Given the description of an element on the screen output the (x, y) to click on. 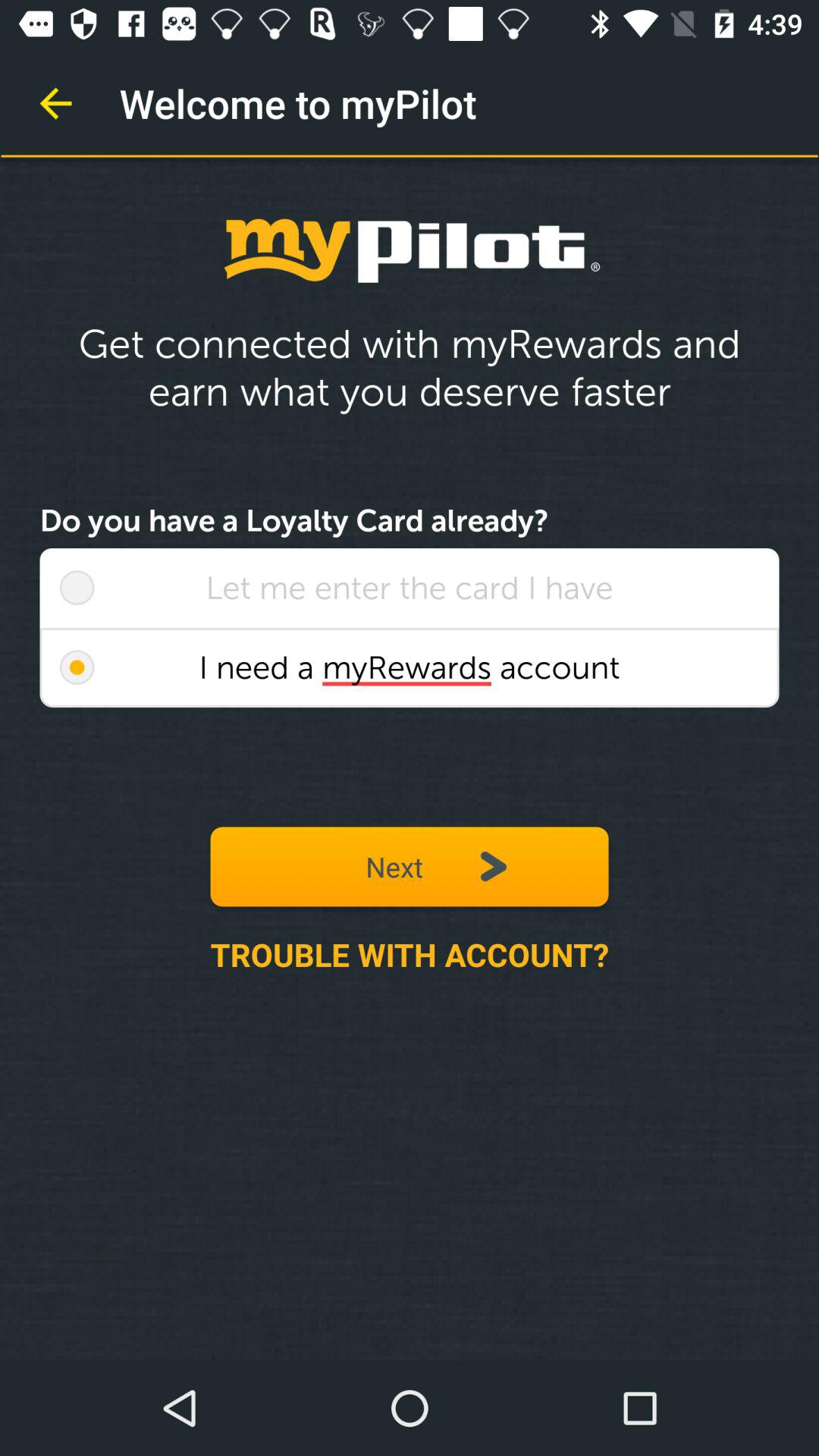
launch icon above i need a (409, 587)
